Given the description of an element on the screen output the (x, y) to click on. 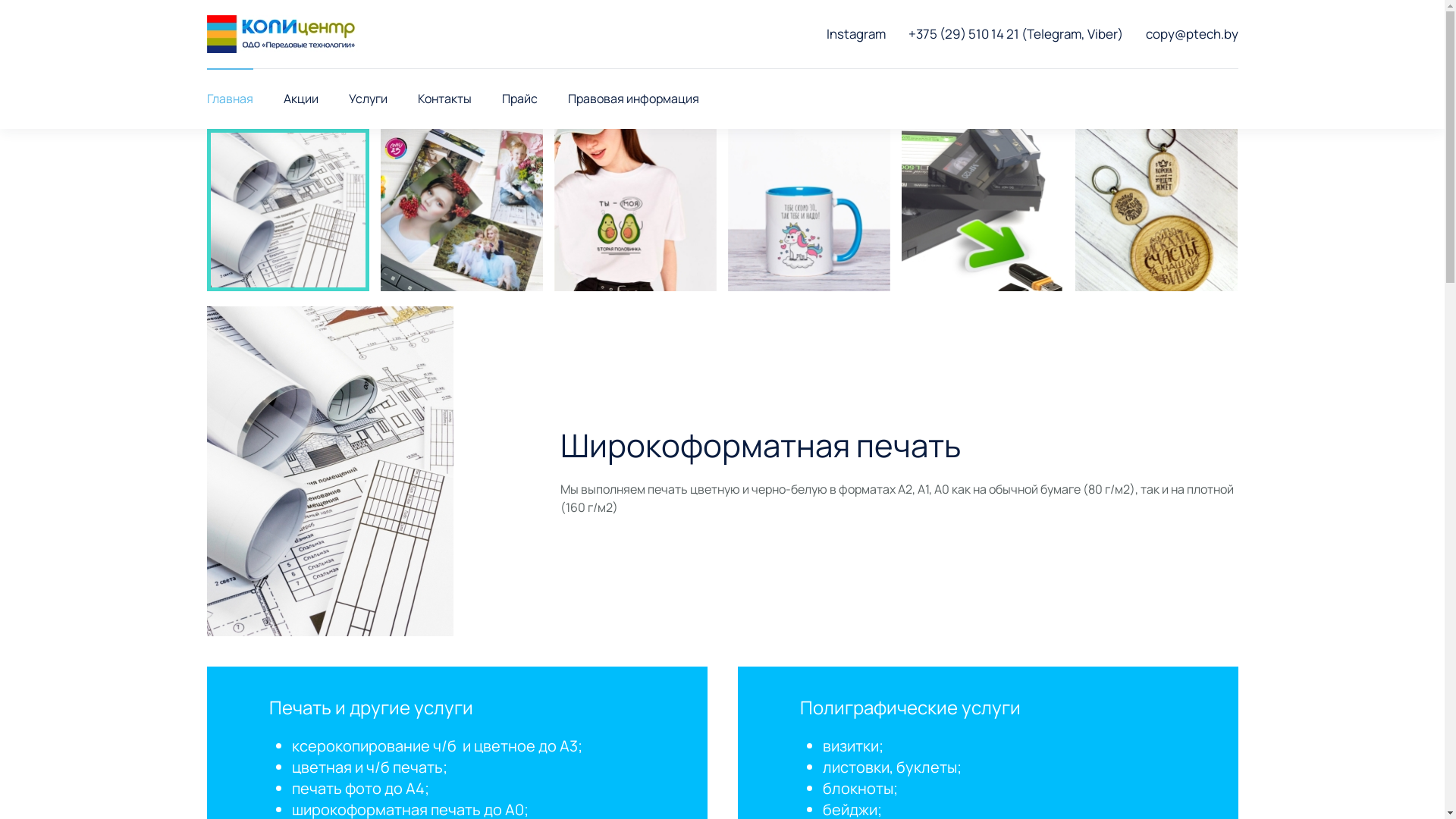
copy@ptech.by Element type: text (1191, 33)
Instagram Element type: text (855, 33)
+375 (29) 510 14 21 (Telegram, Viber) Element type: text (1015, 33)
